Given the description of an element on the screen output the (x, y) to click on. 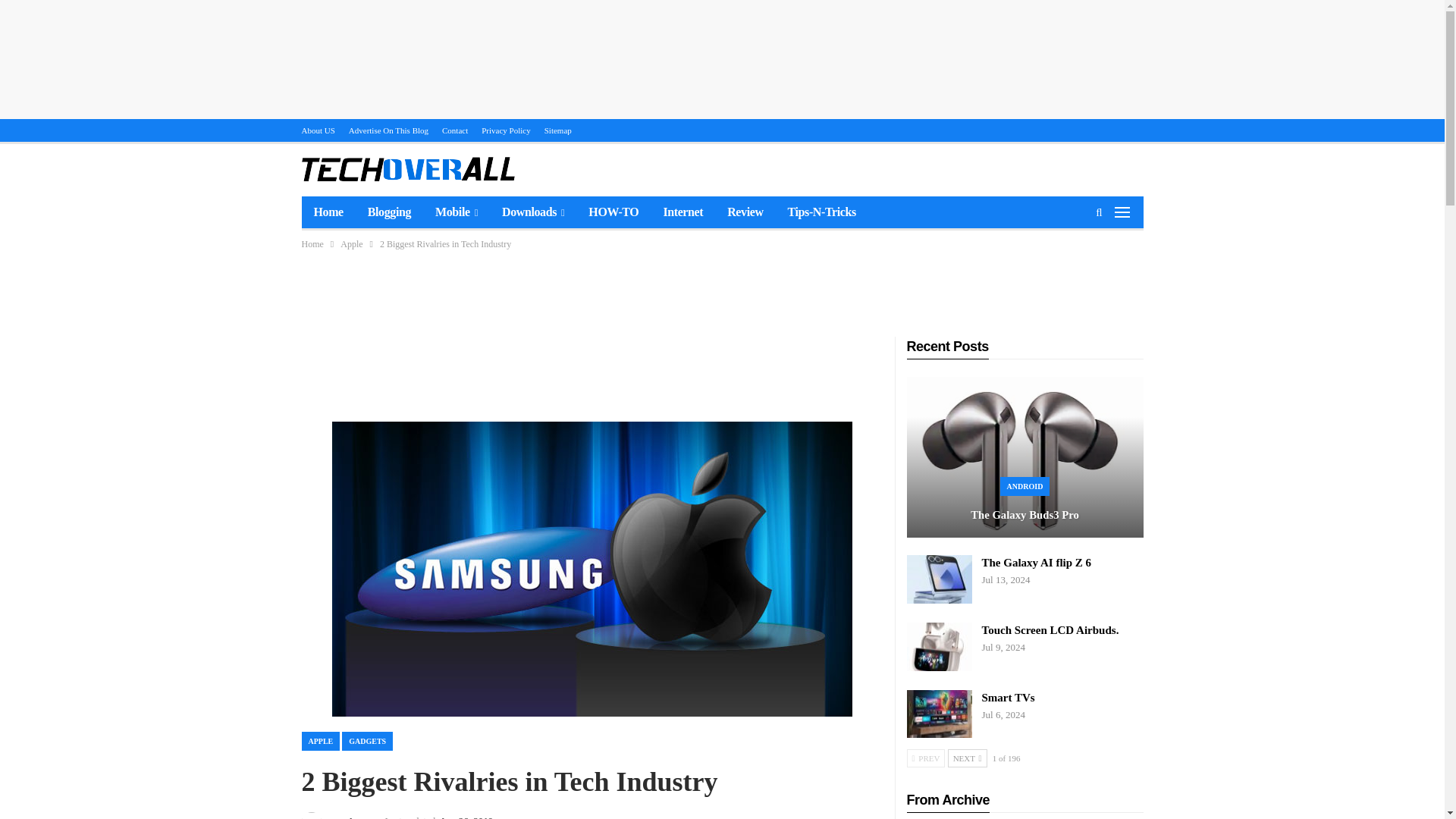
Home (312, 243)
APPLE (320, 741)
Home (328, 212)
Downloads (532, 212)
Apple (351, 243)
GADGETS (367, 741)
Internet (682, 212)
Sitemap (558, 130)
Privacy Policy (505, 130)
Contact (454, 130)
Advertisement (591, 370)
Browse Author Articles (329, 815)
Blogging (389, 212)
Tips-N-Tricks (821, 212)
Mobile (456, 212)
